Given the description of an element on the screen output the (x, y) to click on. 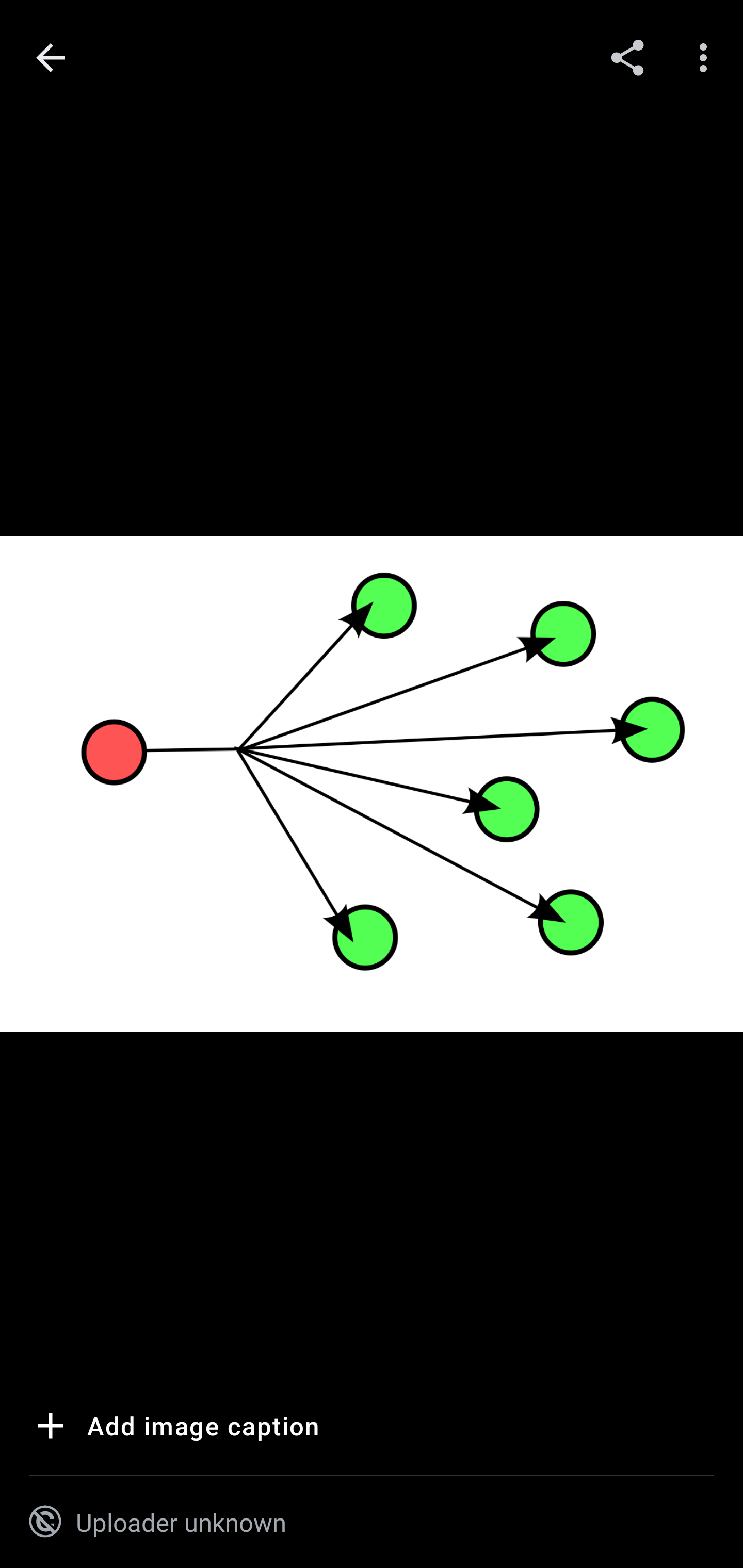
Navigate up (50, 57)
Share (626, 57)
More options (706, 57)
Add image caption (174, 1428)
Public domain (44, 1521)
